Given the description of an element on the screen output the (x, y) to click on. 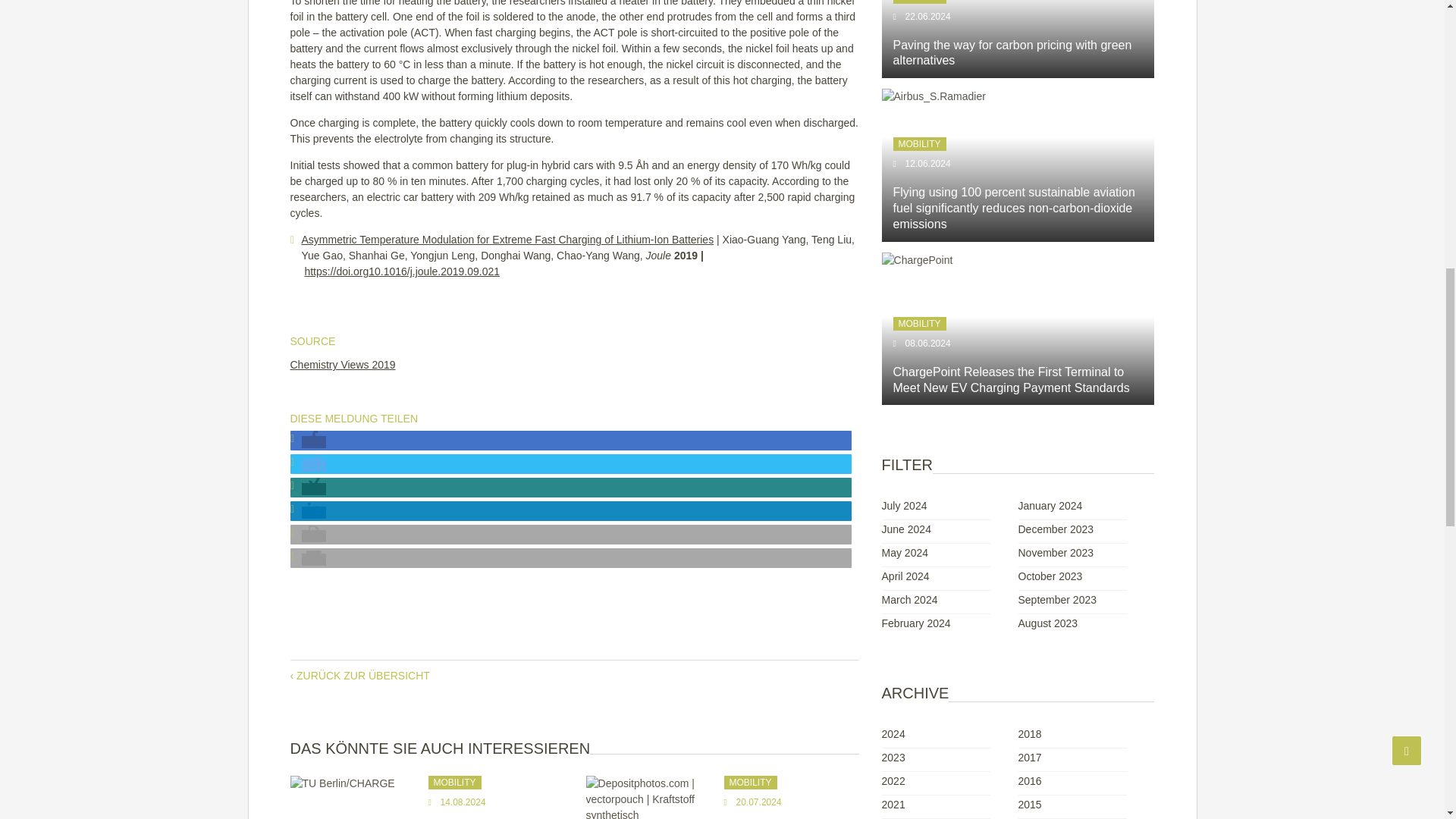
Bei Twitter teilen (313, 465)
Bei XING teilen (313, 489)
Bei LinkedIn teilen (313, 512)
Per E-Mail versenden (313, 559)
Bei Facebook teilen (313, 441)
drucken (313, 535)
